Given the description of an element on the screen output the (x, y) to click on. 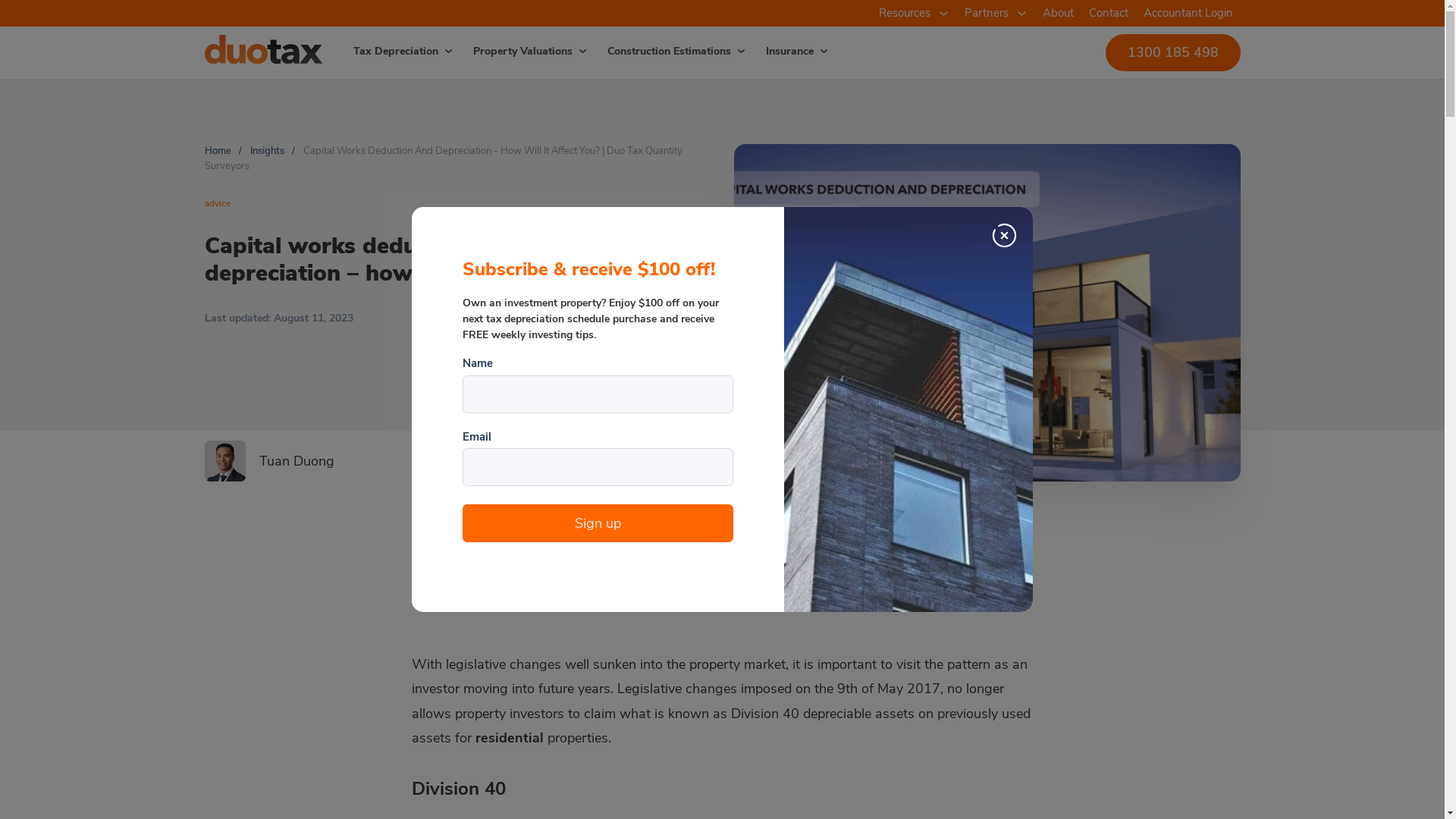
About Element type: text (1057, 13)
Sign up Element type: text (597, 523)
1300 185 498 Element type: text (1172, 51)
Resources Element type: text (903, 13)
Contact Element type: text (1108, 13)
Construction Estimations Element type: text (658, 50)
Accountant Login Element type: text (1187, 13)
Insights Element type: text (267, 150)
Property Valuations Element type: text (513, 50)
Insurance Element type: text (780, 50)
Partners Element type: text (986, 13)
Home Element type: text (217, 150)
Tax Depreciation Element type: text (386, 50)
advice Element type: text (217, 203)
